Given the description of an element on the screen output the (x, y) to click on. 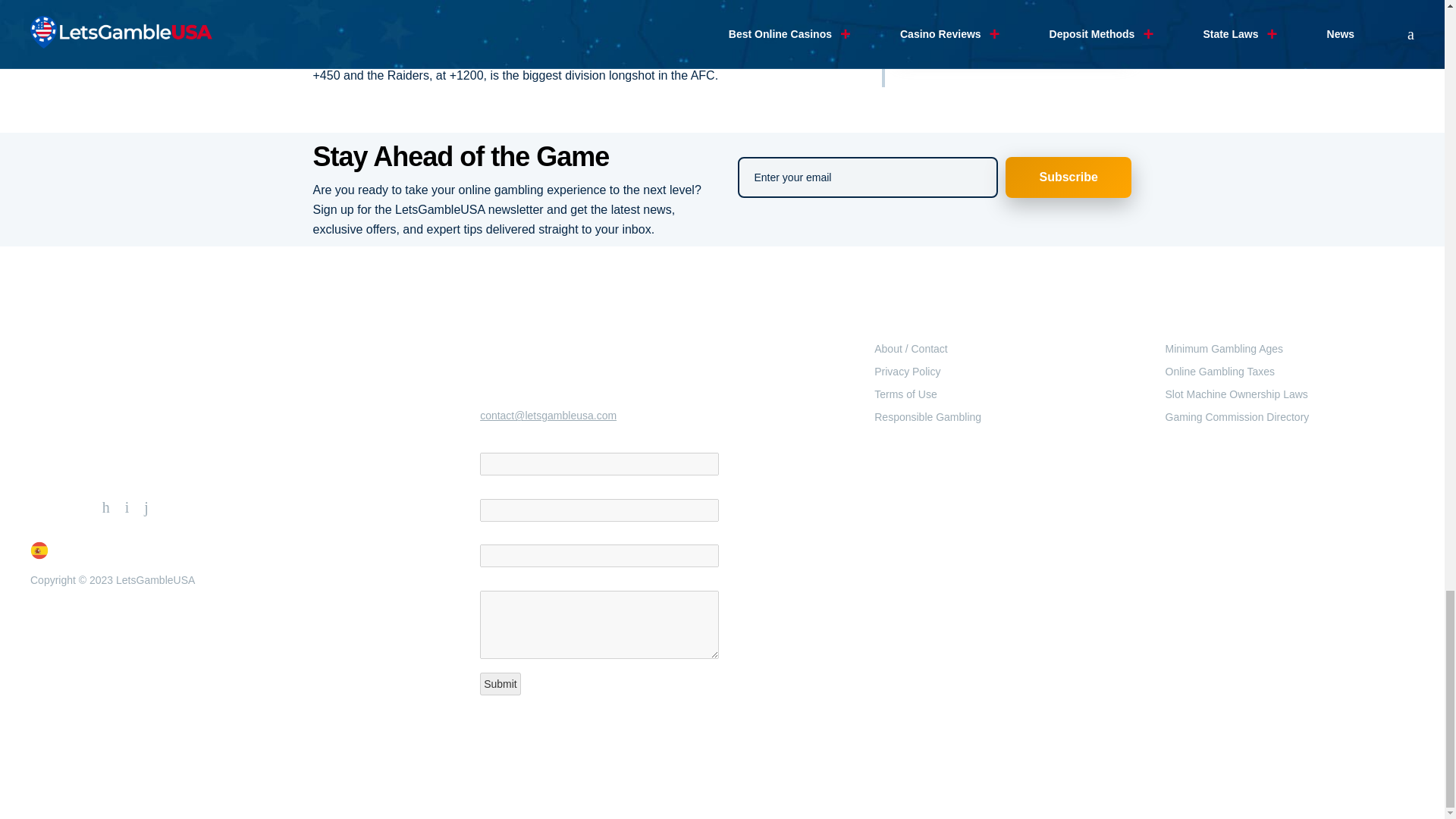
Subscribe (1069, 177)
BetUS.com (343, 35)
Submit (500, 683)
